Given the description of an element on the screen output the (x, y) to click on. 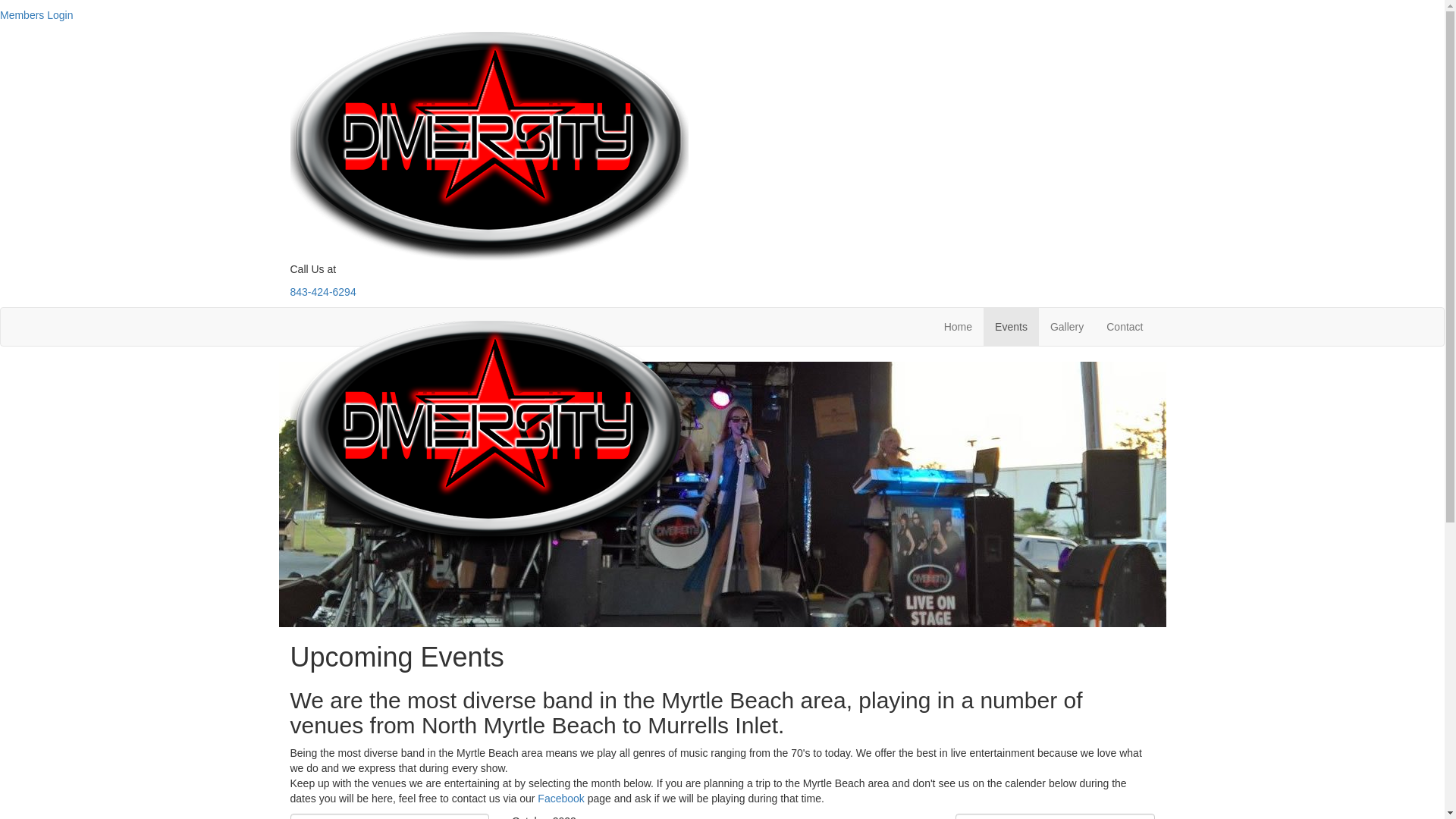
Facebook Element type: text (560, 798)
Home Element type: text (957, 326)
Contact Element type: text (1124, 326)
Events
(current) Element type: text (1010, 326)
Members Login Element type: text (36, 15)
Gallery Element type: text (1066, 326)
843-424-6294 Element type: text (322, 291)
